Given the description of an element on the screen output the (x, y) to click on. 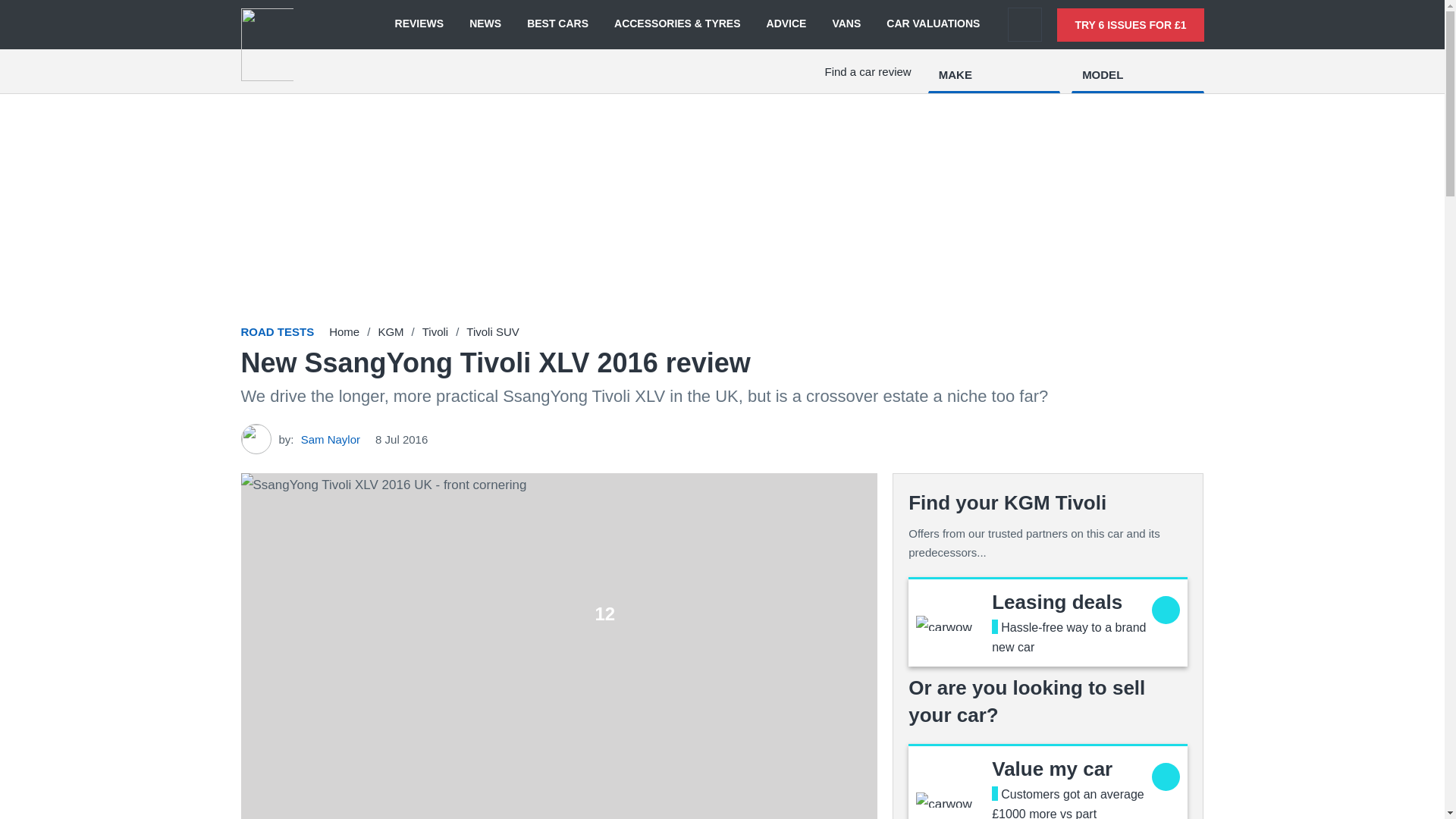
VANS (845, 24)
Search (1024, 24)
Search (1024, 24)
CAR VALUATIONS (932, 24)
ADVICE (786, 24)
REVIEWS (419, 24)
NEWS (485, 24)
BEST CARS (557, 24)
